Given the description of an element on the screen output the (x, y) to click on. 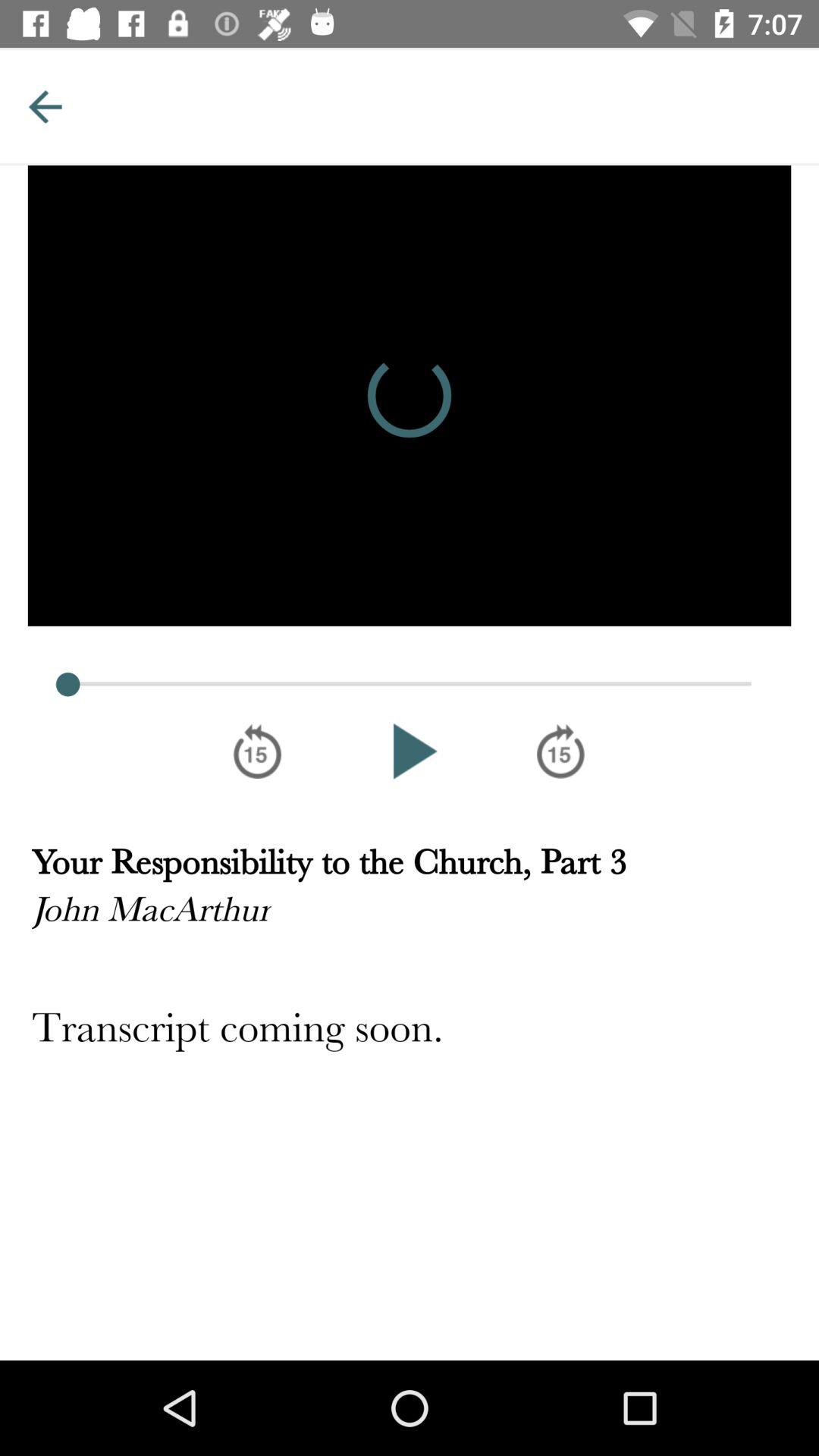
go to previous (45, 106)
